Given the description of an element on the screen output the (x, y) to click on. 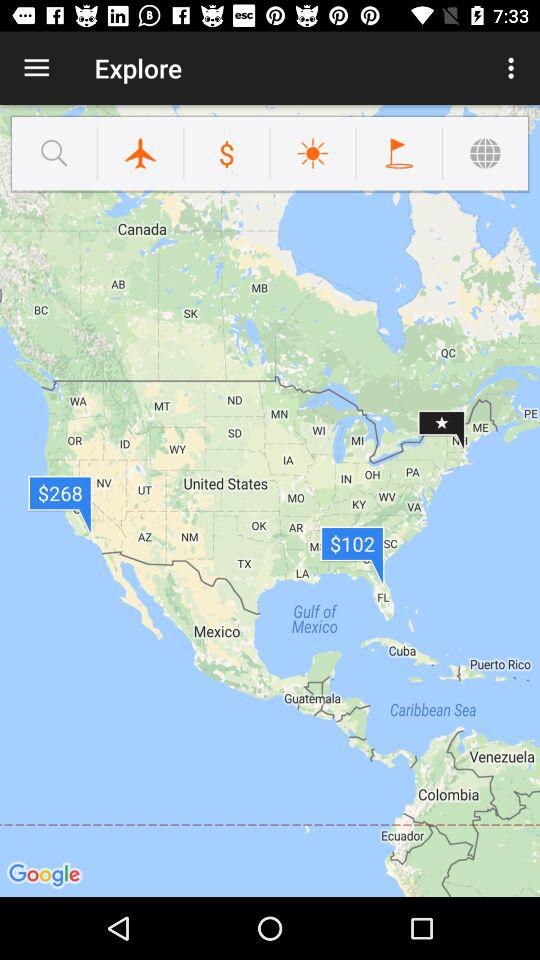
turn off icon next to explore icon (513, 67)
